Given the description of an element on the screen output the (x, y) to click on. 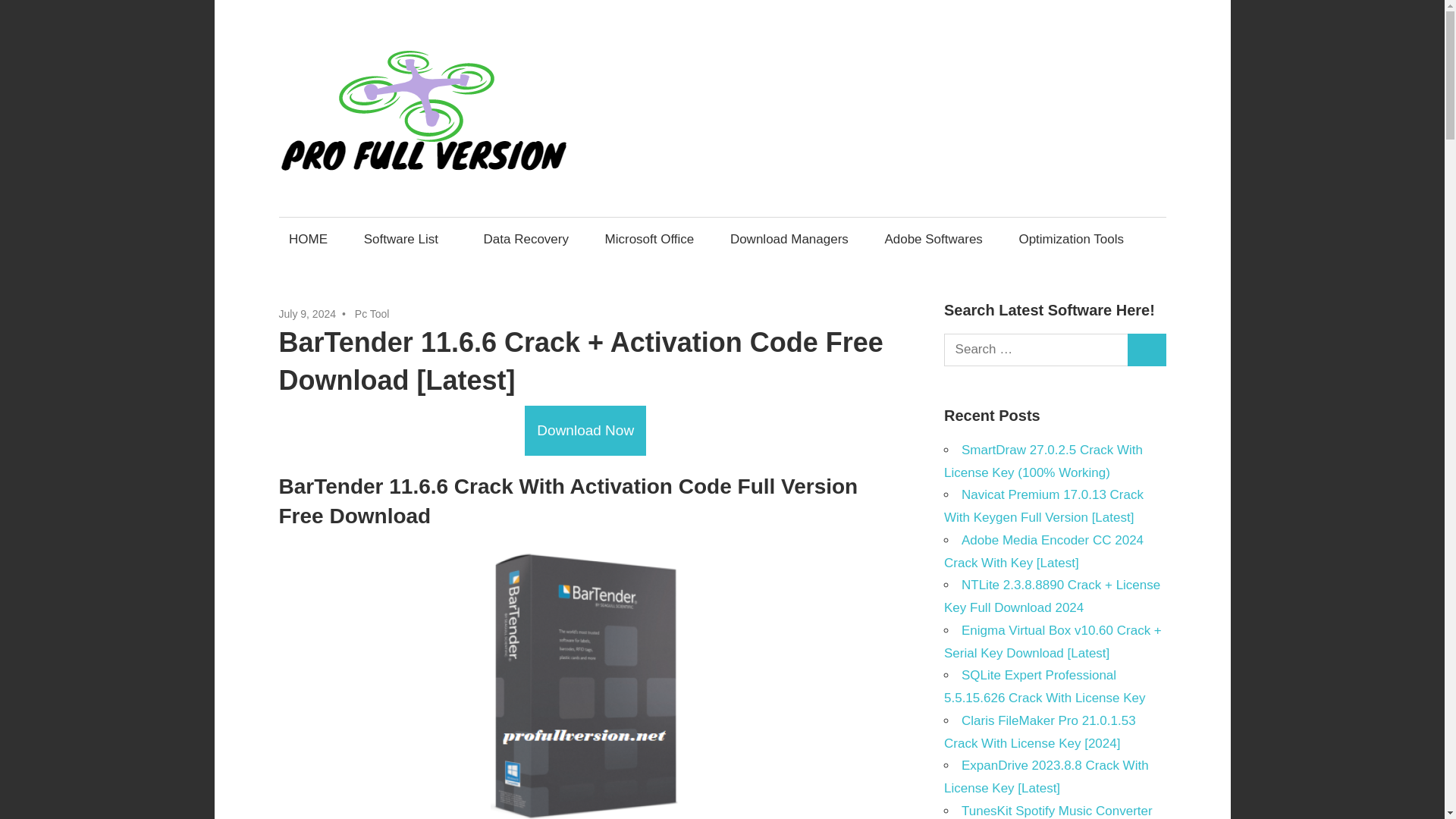
Download Now (585, 430)
Pc Tool (372, 313)
Software List (405, 239)
Microsoft Office (649, 239)
Download Managers (789, 239)
Data Recovery (526, 239)
Download Now (585, 430)
Adobe Softwares (933, 239)
Optimization Tools (1071, 239)
10:55 am (307, 313)
July 9, 2024 (307, 313)
HOME (308, 239)
